Given the description of an element on the screen output the (x, y) to click on. 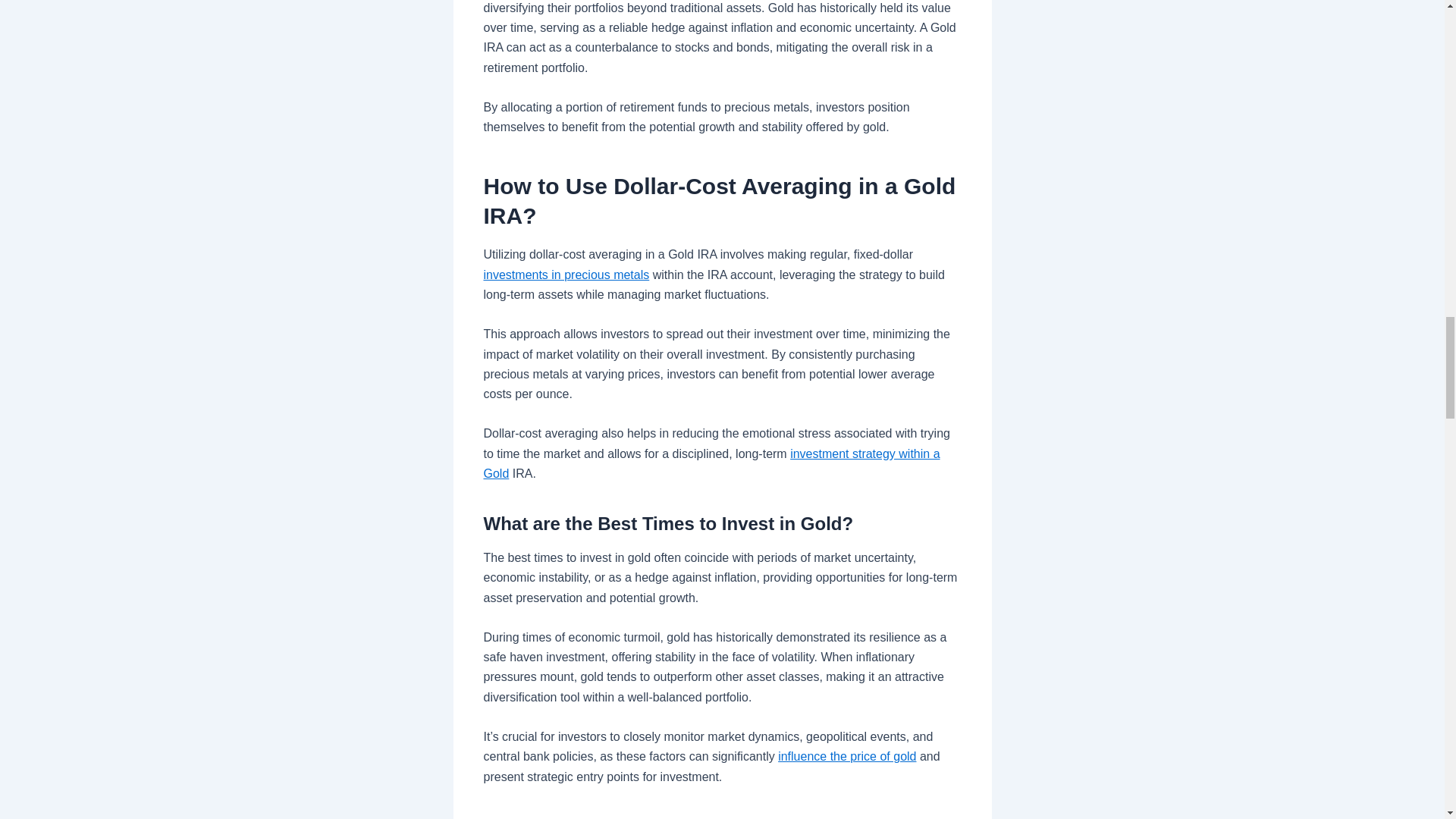
influence the price of gold (846, 756)
investment strategy within a Gold (711, 463)
investments in precious metals (566, 274)
